Given the description of an element on the screen output the (x, y) to click on. 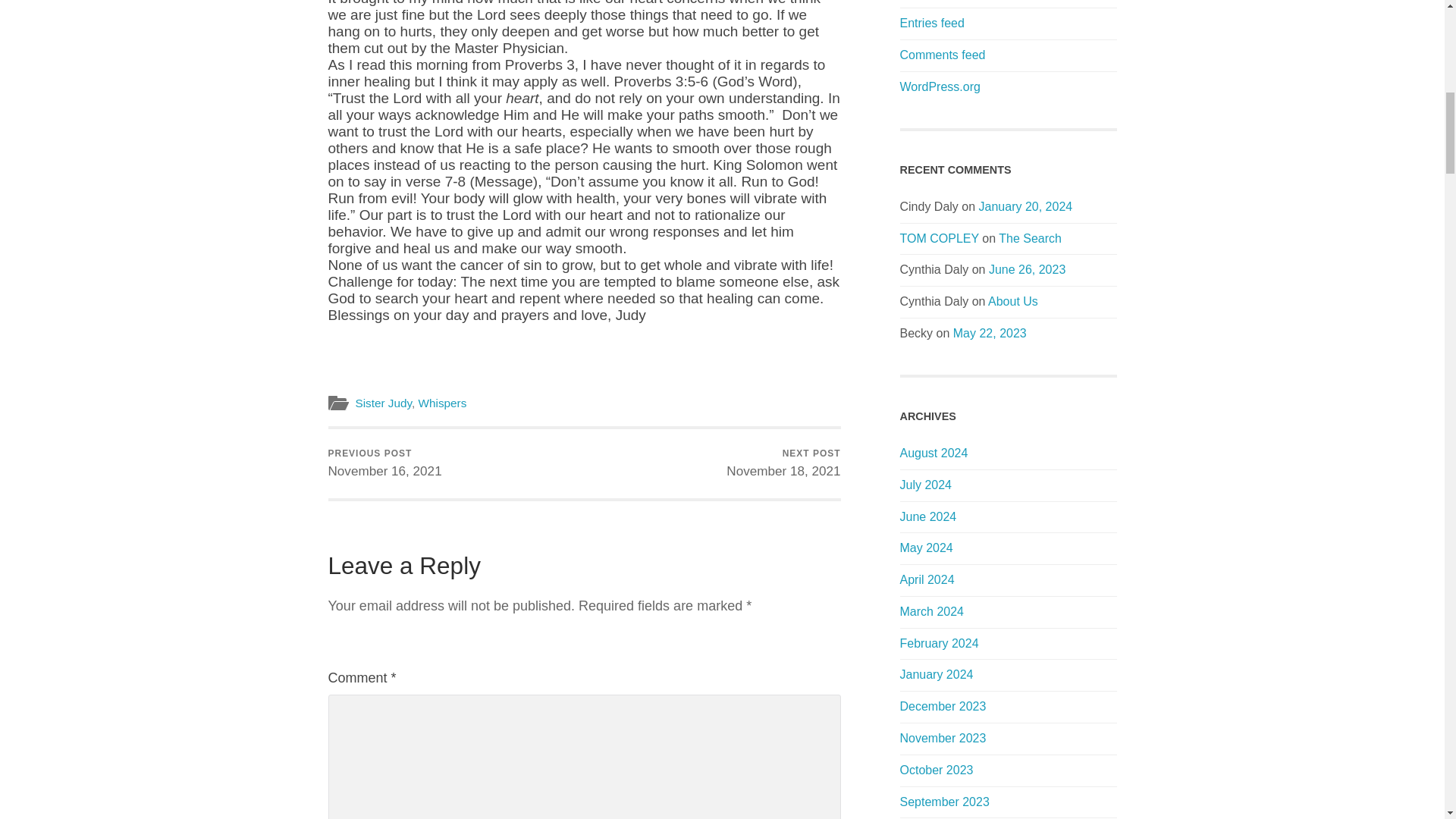
Whispers (443, 402)
January 20, 2024 (1025, 205)
Sister Judy (383, 402)
TOM COPLEY (938, 237)
WordPress.org (939, 86)
Entries feed (783, 463)
Comments feed (931, 22)
